Given the description of an element on the screen output the (x, y) to click on. 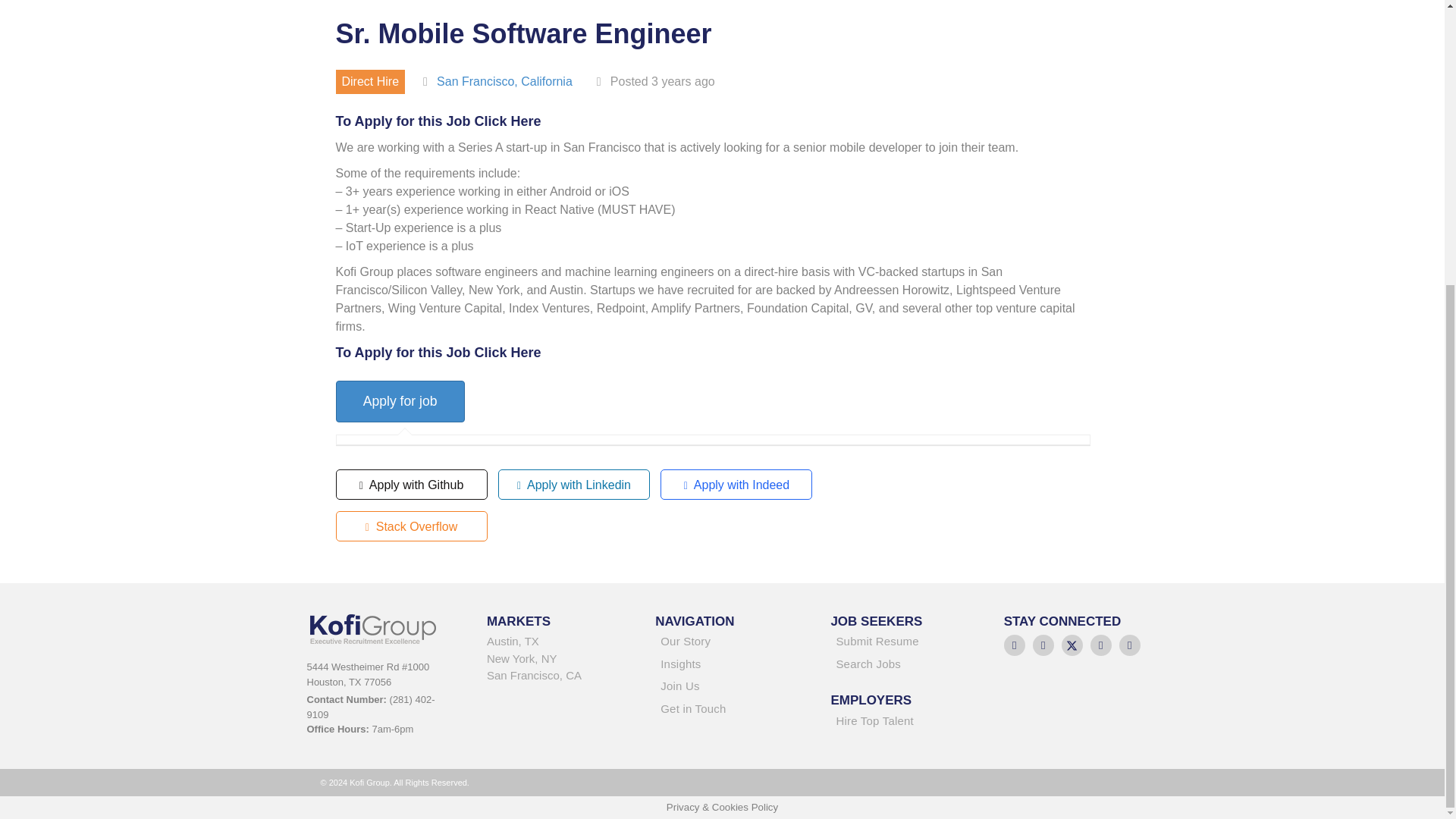
Submit Resume (900, 644)
  Apply with Github (410, 484)
Apply for job (399, 401)
Get in Touch (727, 711)
Search Jobs (900, 667)
Instagram (1101, 645)
Facebook (1043, 645)
  Stack Overflow (410, 526)
San Francisco, California (504, 81)
  Apply with Linkedin (573, 484)
Our Story (727, 644)
Join Us (727, 689)
Kofi Group Logo PNG (379, 628)
Hire Top Talent (900, 723)
YouTube (1129, 645)
